Given the description of an element on the screen output the (x, y) to click on. 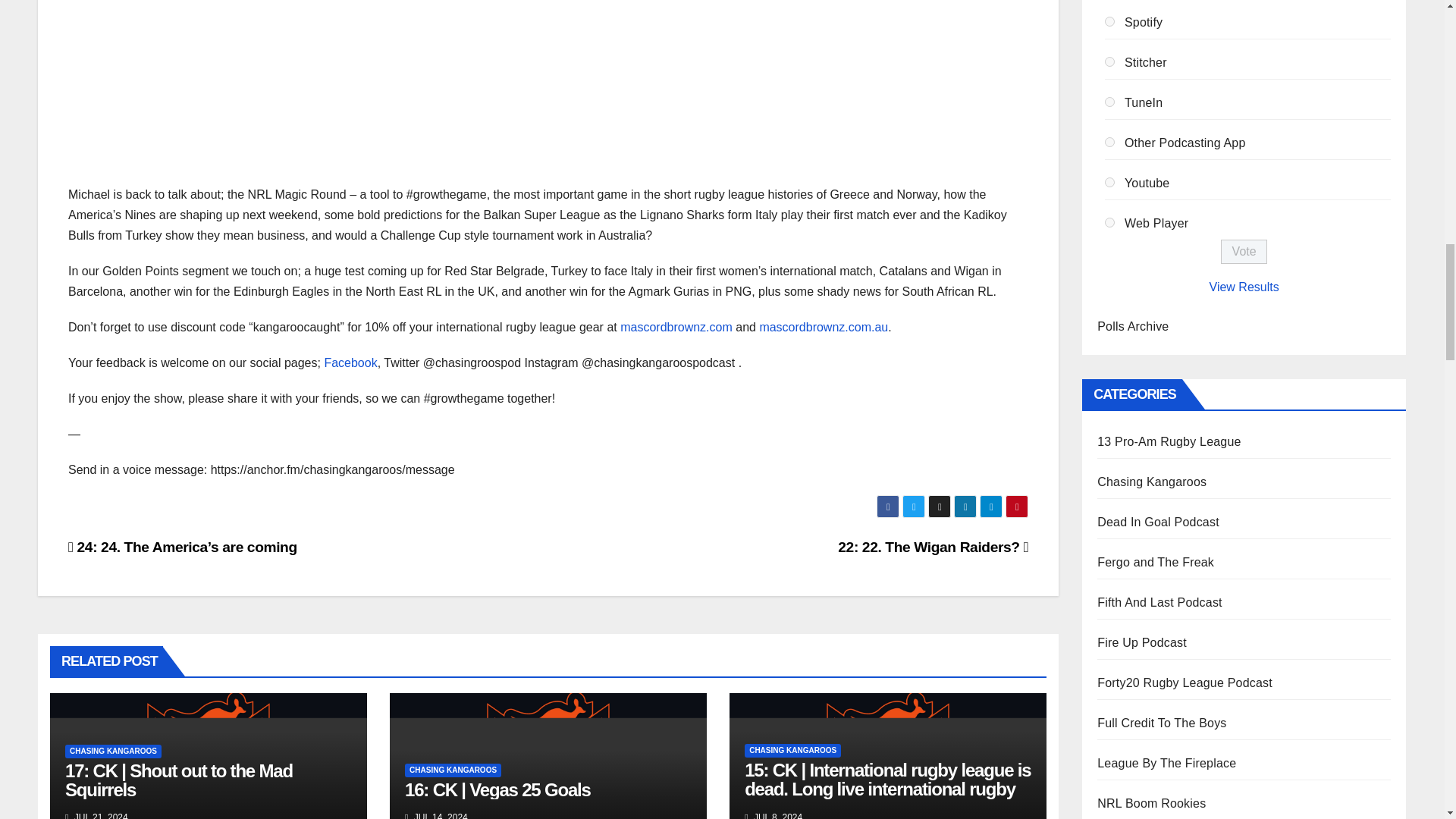
CHASING KANGAROOS (792, 750)
11 (1110, 182)
Facebook (350, 362)
mascordbrownz.com.au (823, 327)
CHASING KANGAROOS (113, 751)
10 (1110, 142)
   Vote    (1243, 251)
8 (1110, 61)
7 (1110, 21)
22: 22. The Wigan Raiders? (932, 546)
CHASING KANGAROOS (452, 770)
9 (1110, 102)
mascordbrownz.com (676, 327)
12 (1110, 222)
View Results Of This Poll (1244, 286)
